Given the description of an element on the screen output the (x, y) to click on. 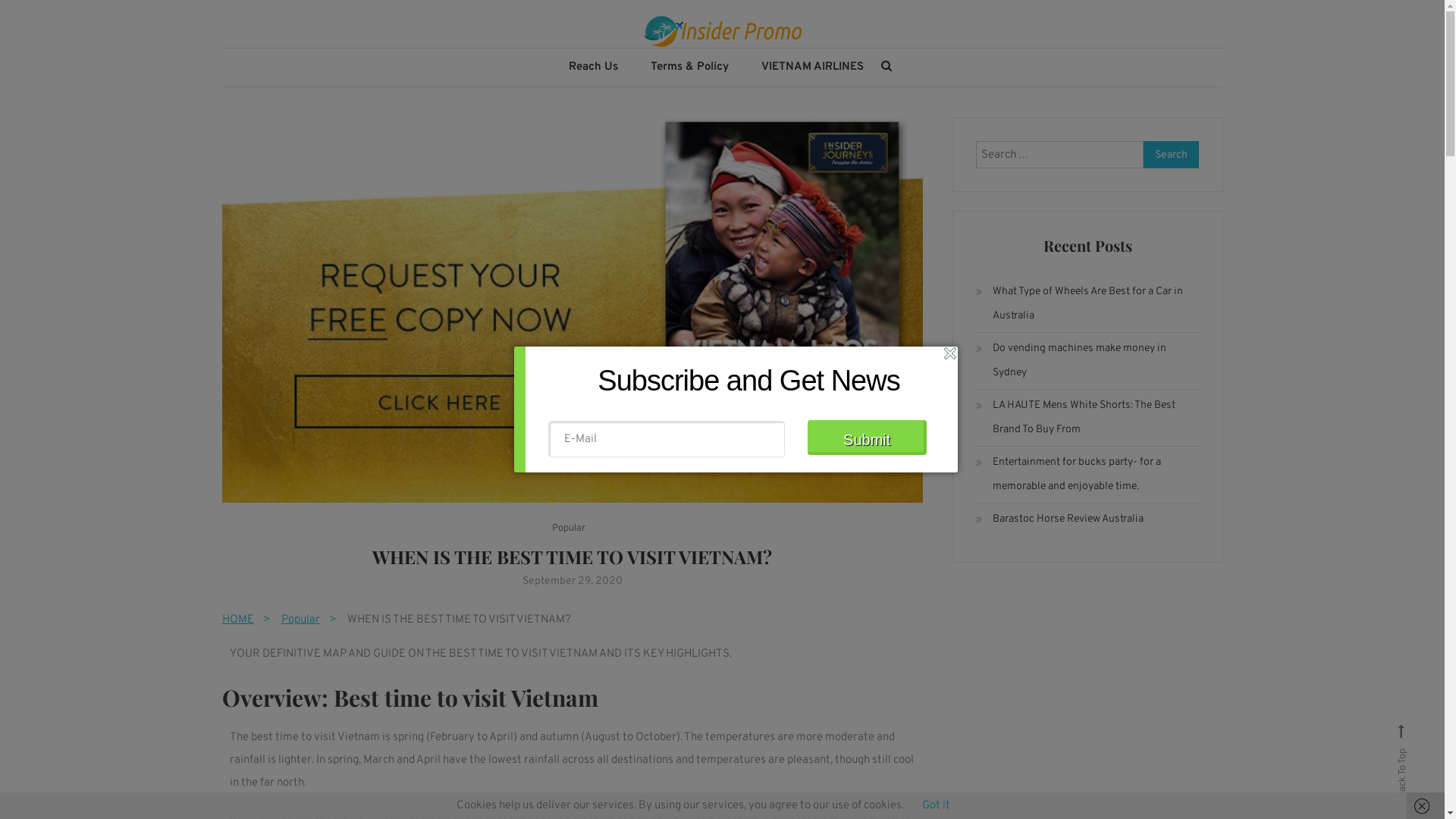
Popular Element type: text (313, 619)
Barastoc Horse Review Australia Element type: text (1059, 519)
VIETNAM AIRLINES Element type: text (812, 67)
Insider Promo Element type: text (343, 72)
Submit Element type: text (865, 437)
Popular Element type: text (568, 528)
Search Element type: text (768, 432)
September 29, 2020 Element type: text (571, 580)
Got it Element type: text (936, 805)
HOME Element type: text (250, 619)
Reach Us Element type: text (593, 67)
LA HAUTE Mens White Shorts: The Best Brand To Buy From Element type: text (1086, 417)
Terms & Policy Element type: text (689, 67)
Search Element type: text (1171, 154)
Do vending machines make money in Sydney Element type: text (1086, 360)
What Type of Wheels Are Best for a Car in Australia Element type: text (1086, 303)
